Given the description of an element on the screen output the (x, y) to click on. 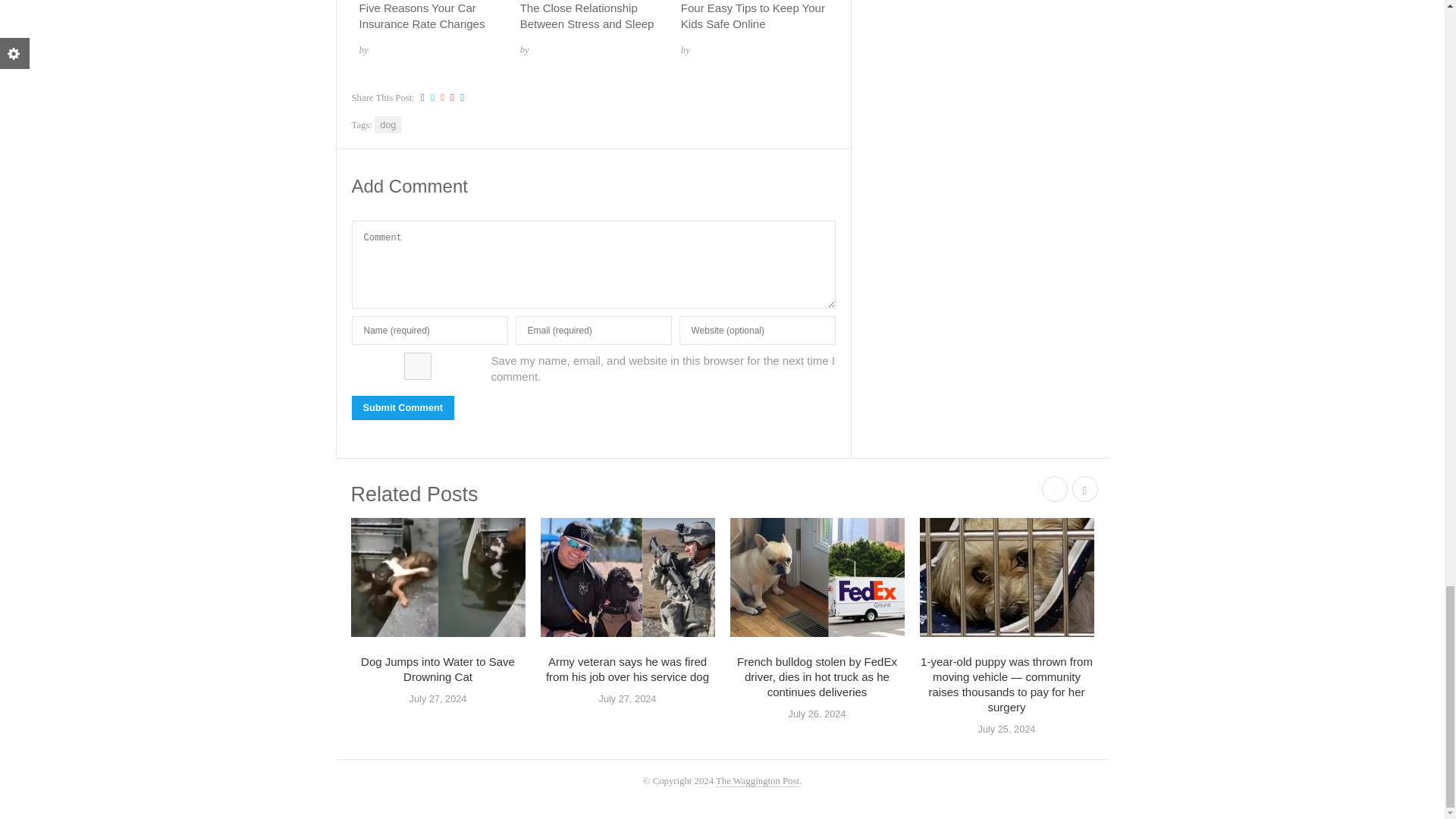
yes (417, 366)
